Given the description of an element on the screen output the (x, y) to click on. 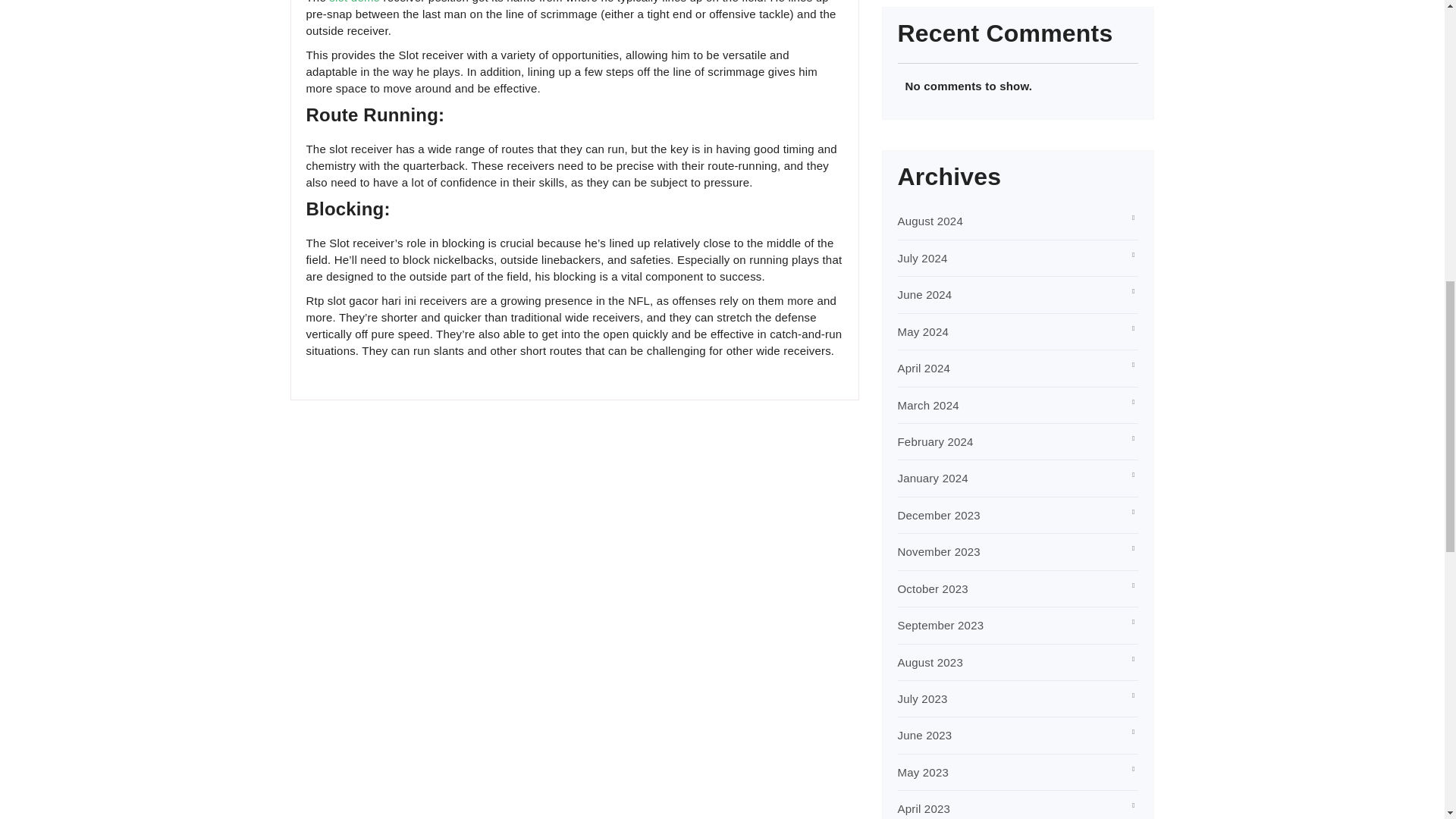
May 2023 (923, 771)
January 2024 (933, 477)
August 2024 (930, 220)
March 2024 (928, 404)
September 2023 (941, 625)
May 2024 (923, 331)
July 2023 (922, 698)
June 2023 (925, 735)
December 2023 (938, 514)
April 2024 (924, 367)
October 2023 (933, 588)
slot demo (354, 2)
July 2024 (922, 257)
June 2024 (925, 294)
February 2024 (936, 440)
